Given the description of an element on the screen output the (x, y) to click on. 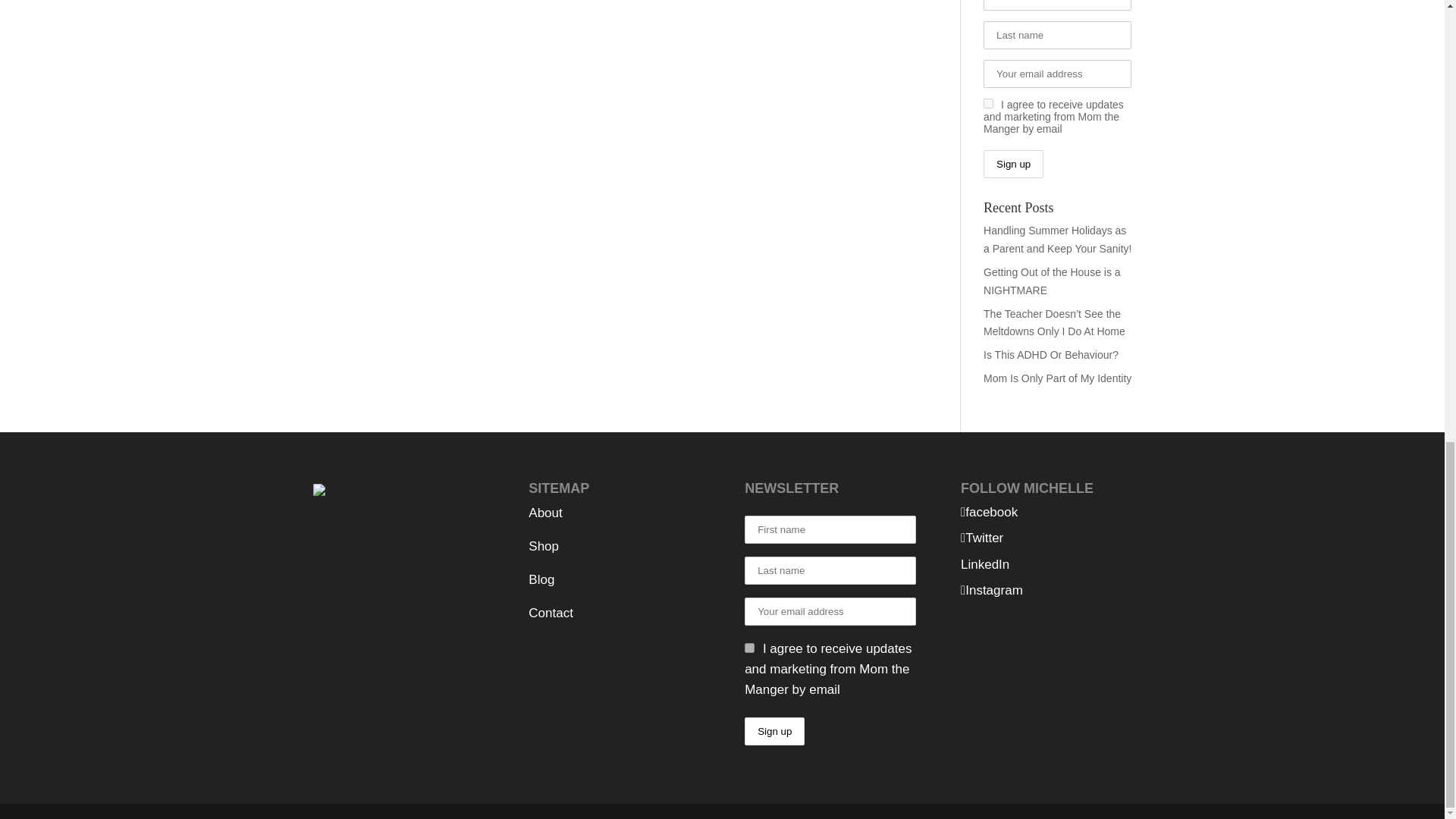
facebook (988, 512)
Sign up (1013, 163)
Handling Summer Holidays as a Parent and Keep Your Sanity! (1057, 239)
Instagram (991, 590)
Sign up (774, 731)
Mom Is Only Part of My Identity (1057, 378)
Instagram (991, 590)
About (545, 513)
Sign up (774, 731)
Is This ADHD Or Behaviour? (1051, 354)
LinkedIn (984, 564)
LinkedIn (984, 564)
Blog (541, 579)
Facebook (988, 512)
Getting Out of the House is a NIGHTMARE (1052, 281)
